Given the description of an element on the screen output the (x, y) to click on. 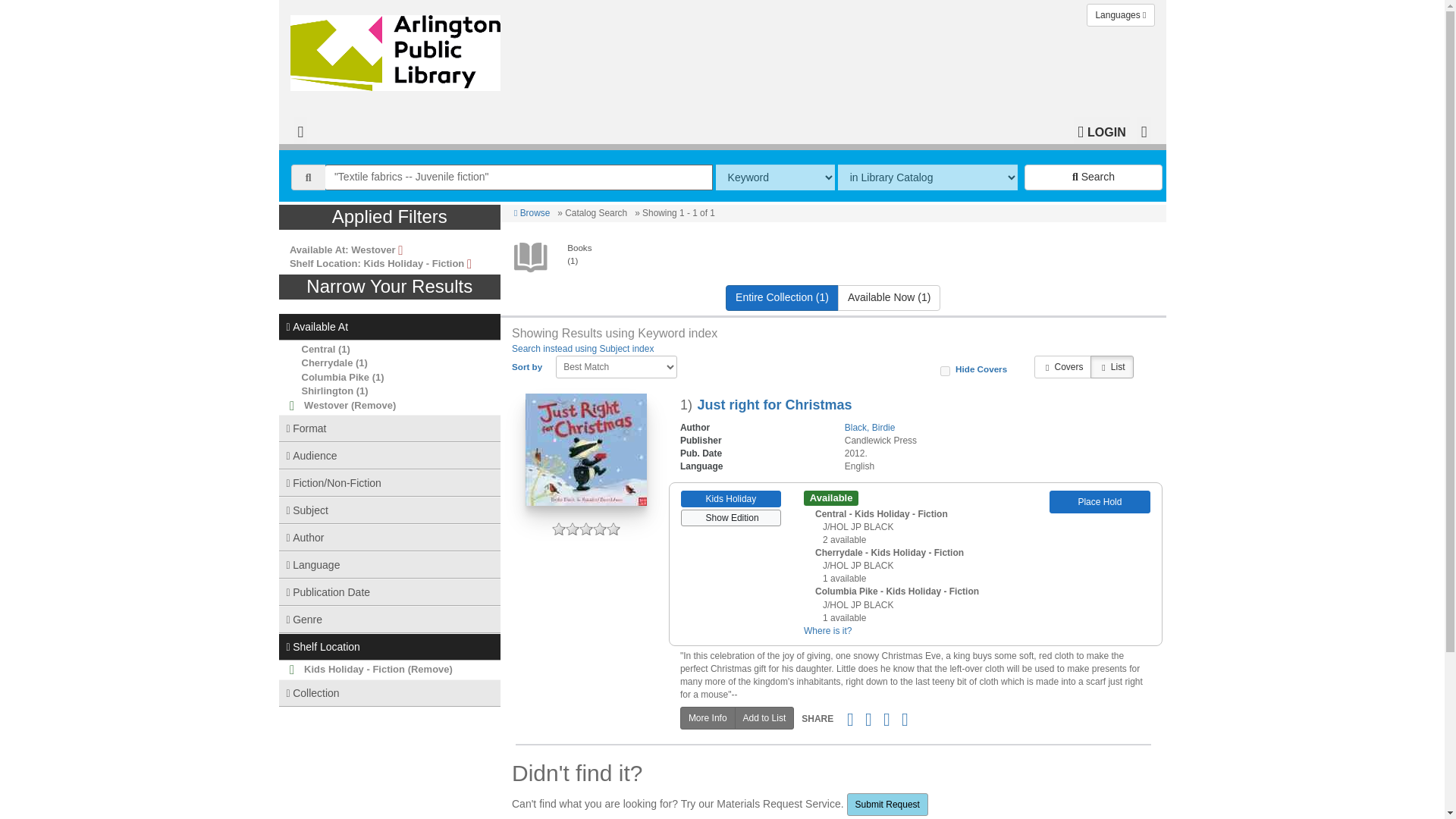
Shirlington (327, 390)
Library Home Page (397, 48)
on (945, 370)
Languages  (1120, 15)
Login (1101, 130)
Cherrydale (327, 362)
Central (318, 348)
Show Menu (1144, 130)
 Search (1093, 177)
Browse the Catalog (300, 130)
LOGIN (1101, 130)
Columbia Pike (335, 377)
The method of searching. (775, 177)
"Textile fabrics -- Juvenile fiction" (518, 177)
